Given the description of an element on the screen output the (x, y) to click on. 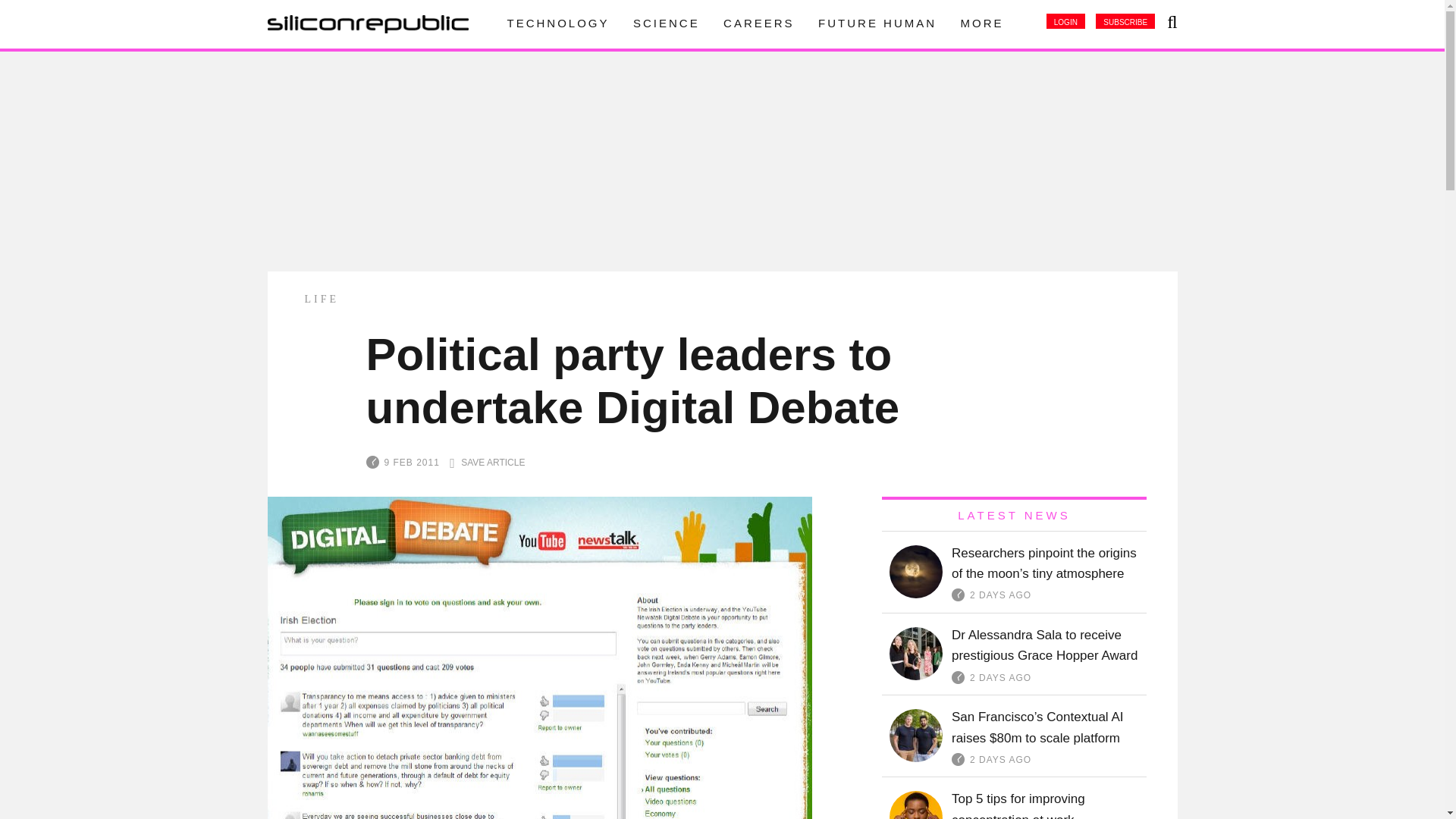
TECHNOLOGY (557, 22)
SCIENCE (666, 22)
